Given the description of an element on the screen output the (x, y) to click on. 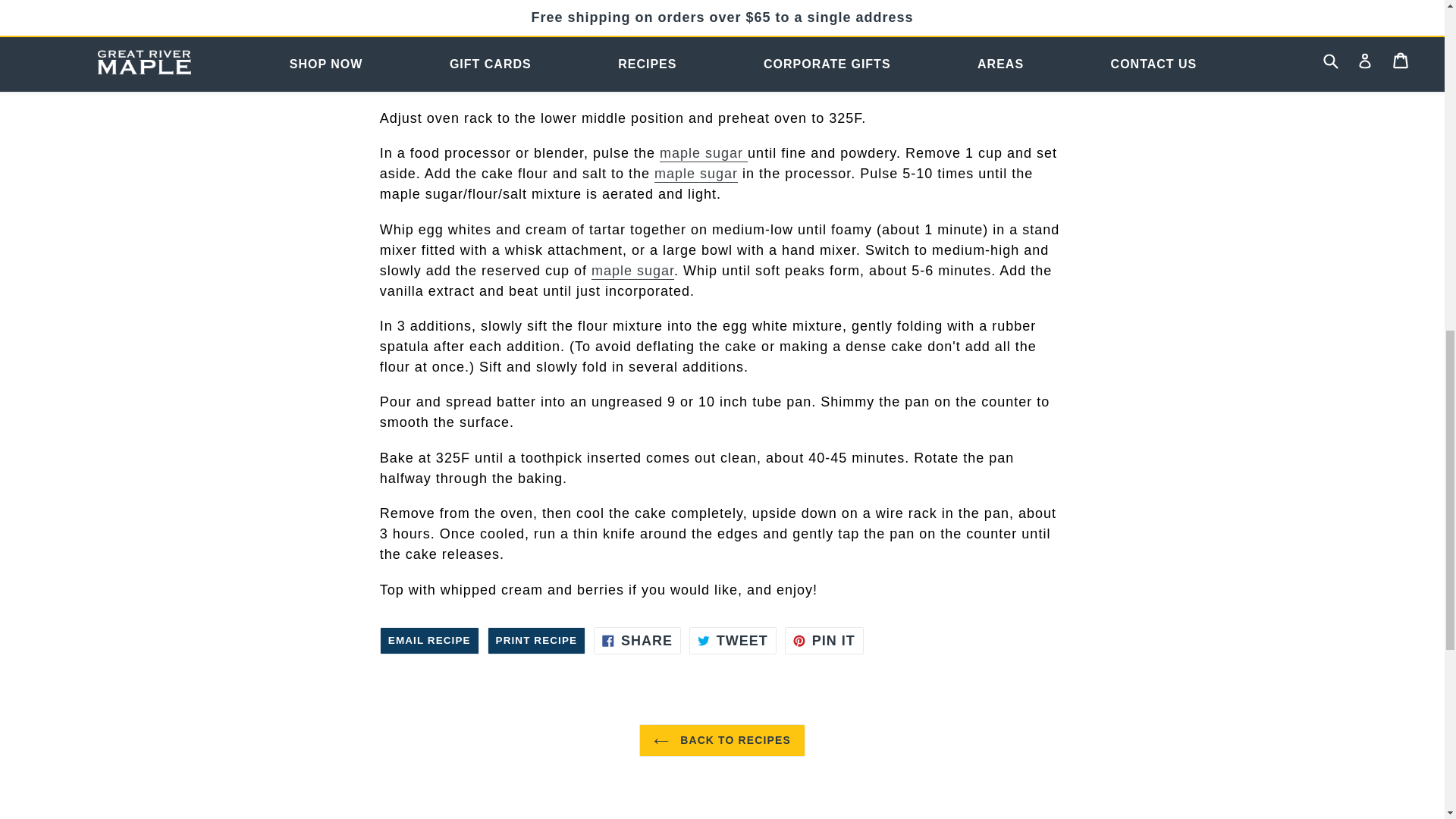
PRINT RECIPE (536, 640)
Maple Sugar (632, 270)
EMAIL RECIPE (429, 640)
maple sugar (703, 153)
Tweet on Twitter (637, 640)
Pin on Pinterest (732, 640)
BACK TO RECIPES (732, 640)
Share on Facebook (823, 640)
